Given the description of an element on the screen output the (x, y) to click on. 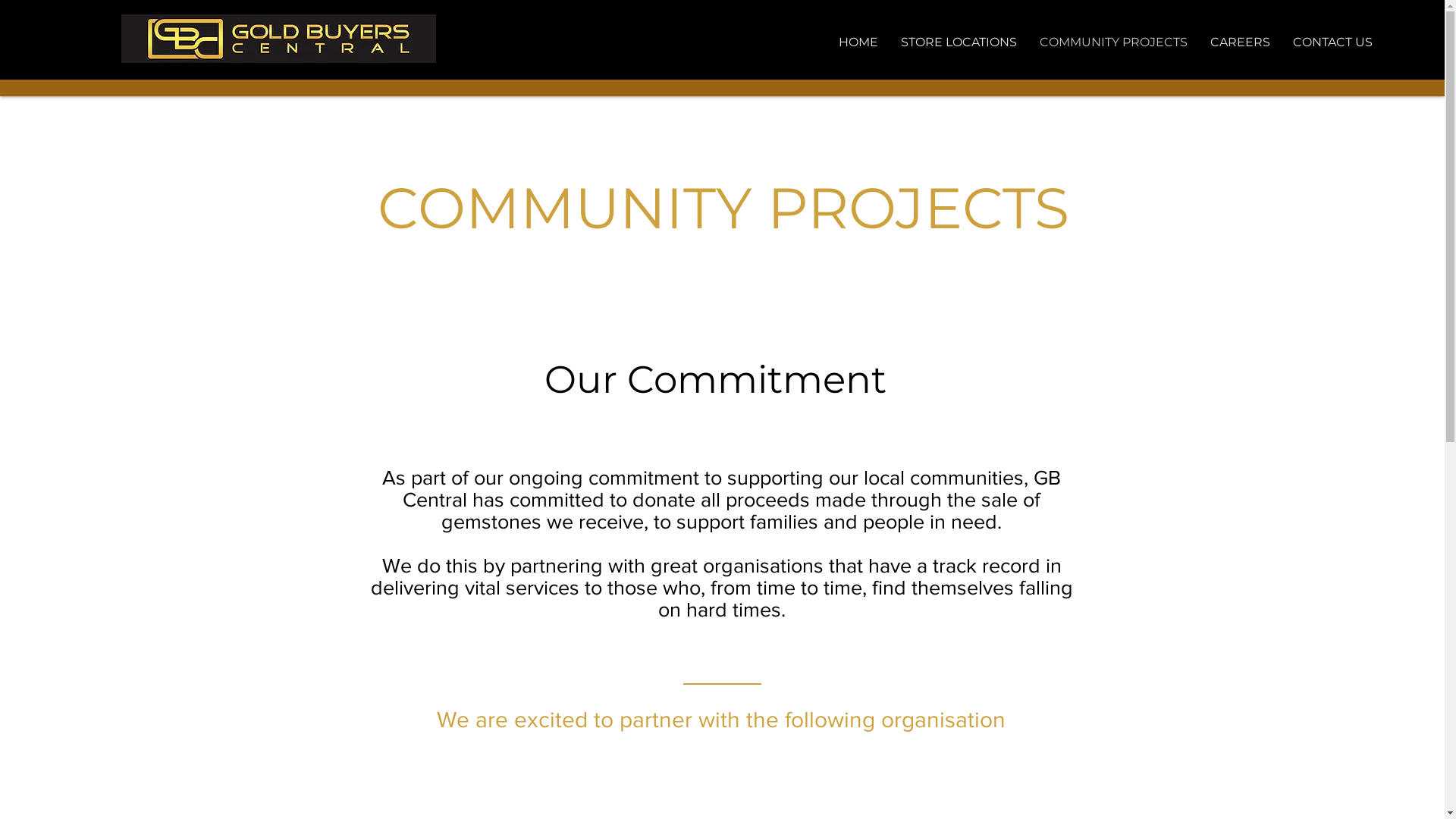
HOME Element type: text (858, 41)
COMMUNITY PROJECTS Element type: text (1113, 41)
CONTACT US Element type: text (1332, 41)
CAREERS Element type: text (1239, 41)
STORE LOCATIONS Element type: text (958, 41)
